Given the description of an element on the screen output the (x, y) to click on. 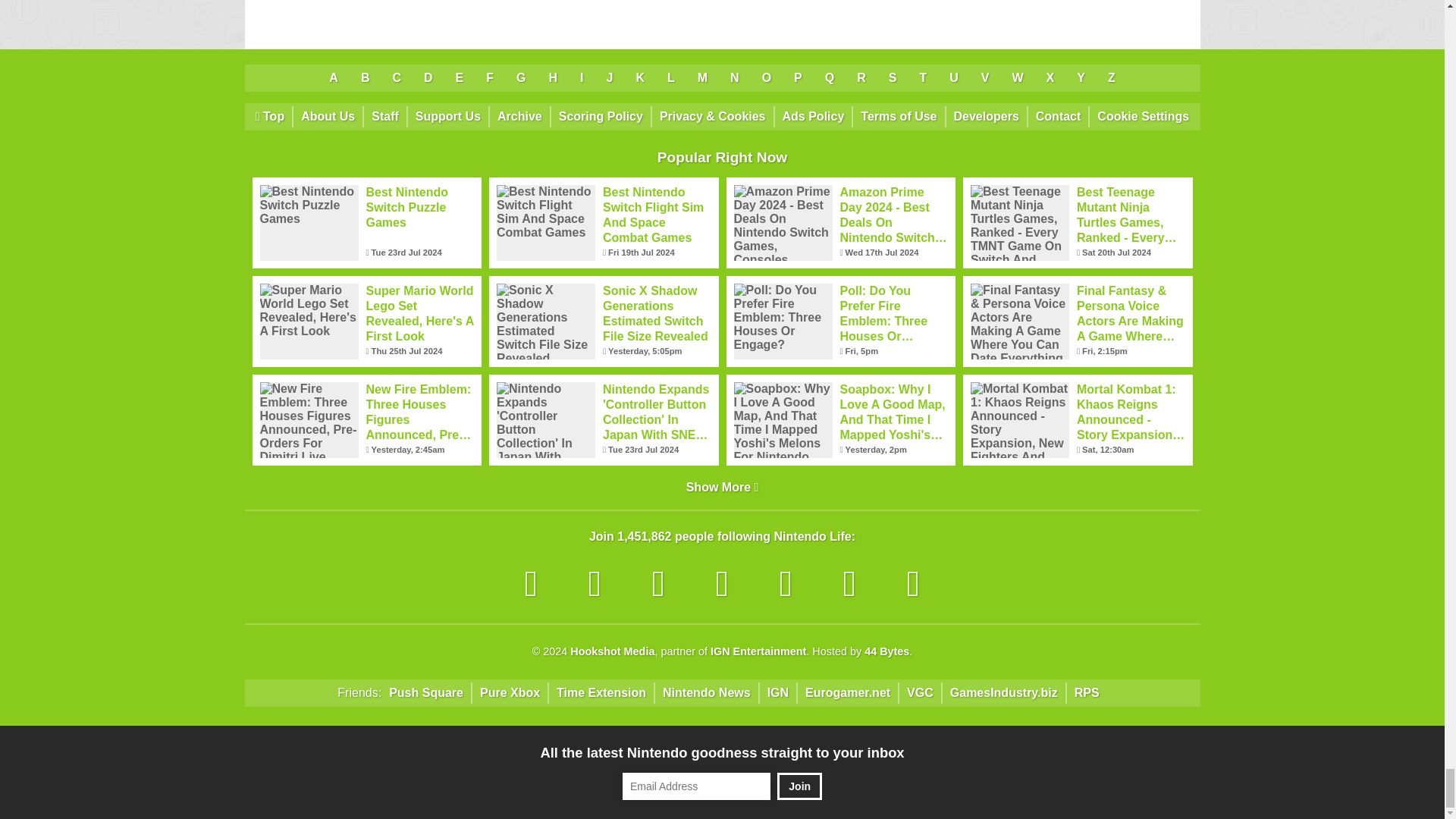
Join (799, 786)
